Given the description of an element on the screen output the (x, y) to click on. 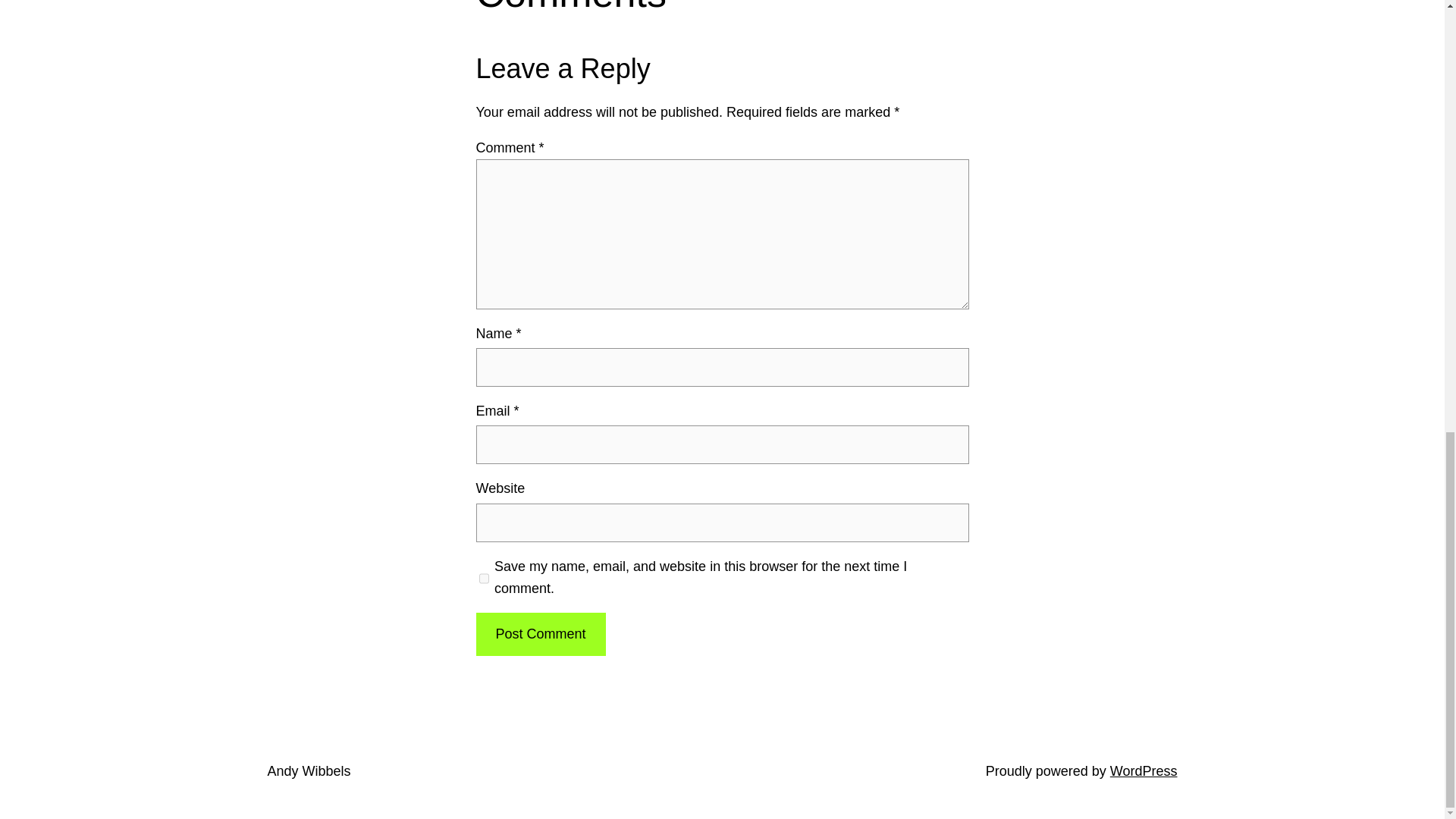
Post Comment (540, 634)
Post Comment (540, 634)
Andy Wibbels (308, 770)
WordPress (1143, 770)
